Given the description of an element on the screen output the (x, y) to click on. 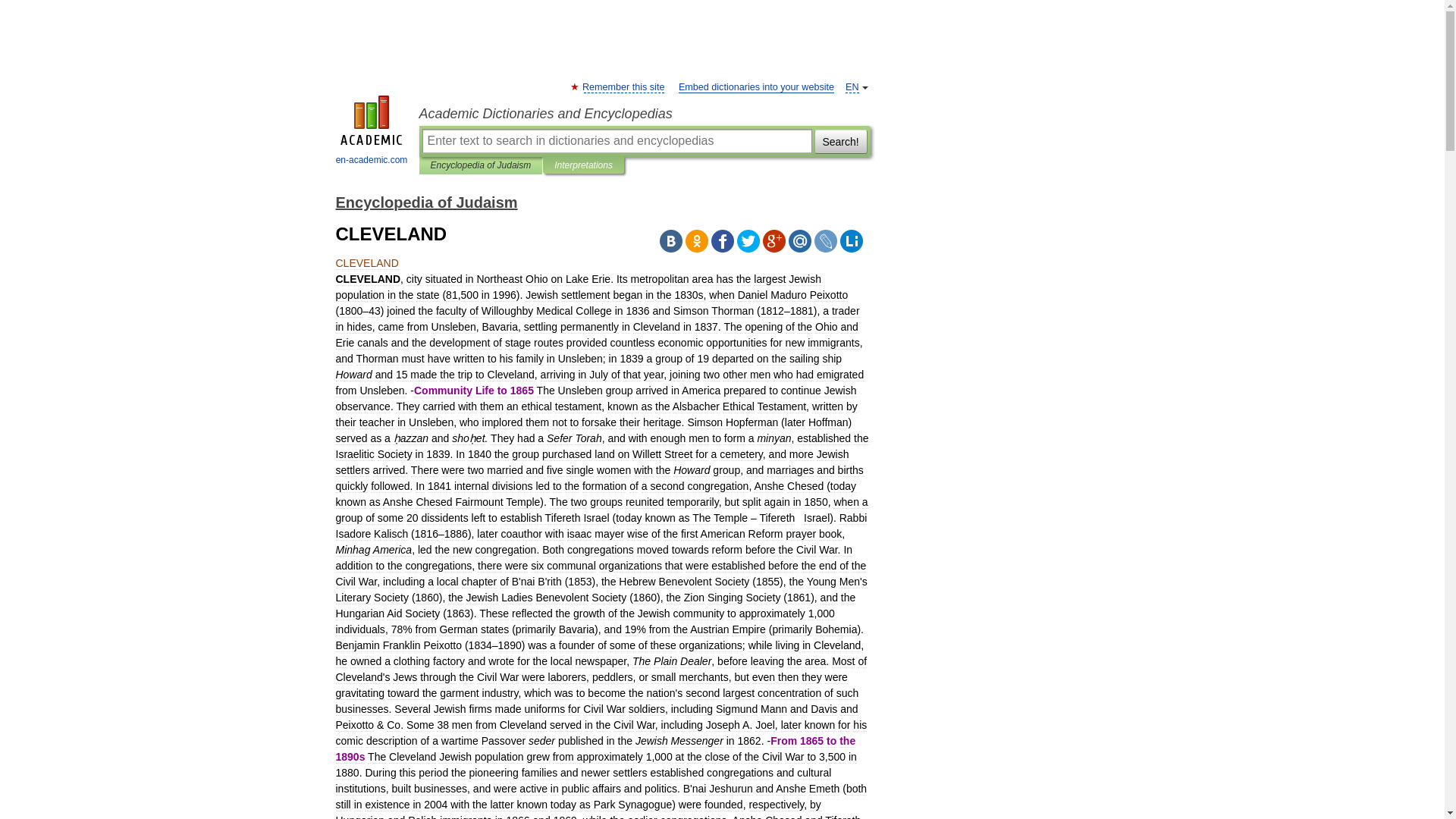
Enter text to search in dictionaries and encyclopedias (616, 140)
Encyclopedia of Judaism (425, 202)
Search! (840, 140)
EN (852, 87)
Academic Dictionaries and Encyclopedias (644, 114)
Remember this site (623, 87)
Encyclopedia of Judaism (480, 165)
Interpretations (583, 165)
en-academic.com (371, 131)
Embed dictionaries into your website (756, 87)
